Given the description of an element on the screen output the (x, y) to click on. 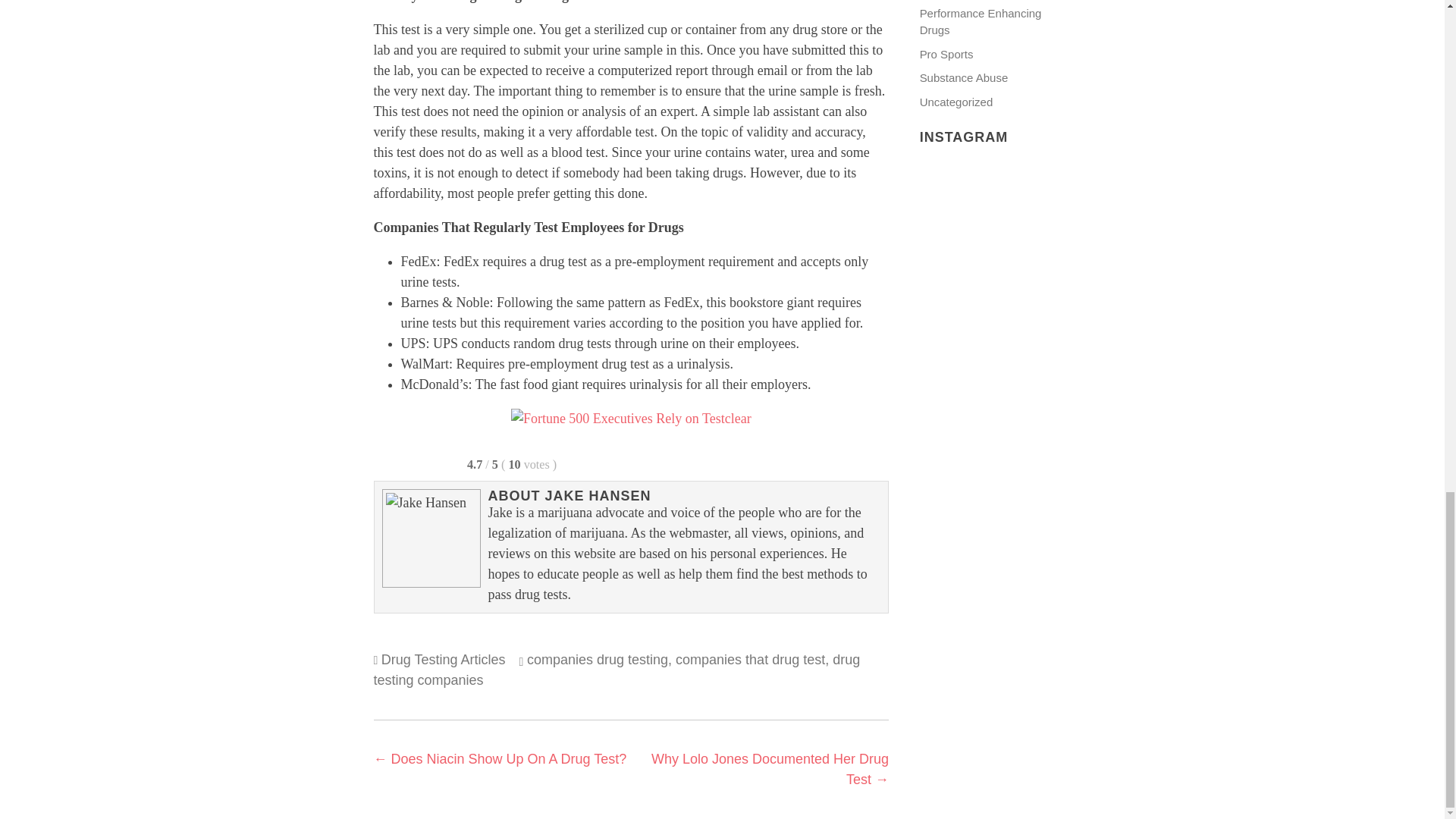
drug testing companies (616, 669)
Drug Testing Articles (443, 659)
JAKE HANSEN (597, 495)
companies that drug test (750, 659)
companies drug testing (597, 659)
